Given the description of an element on the screen output the (x, y) to click on. 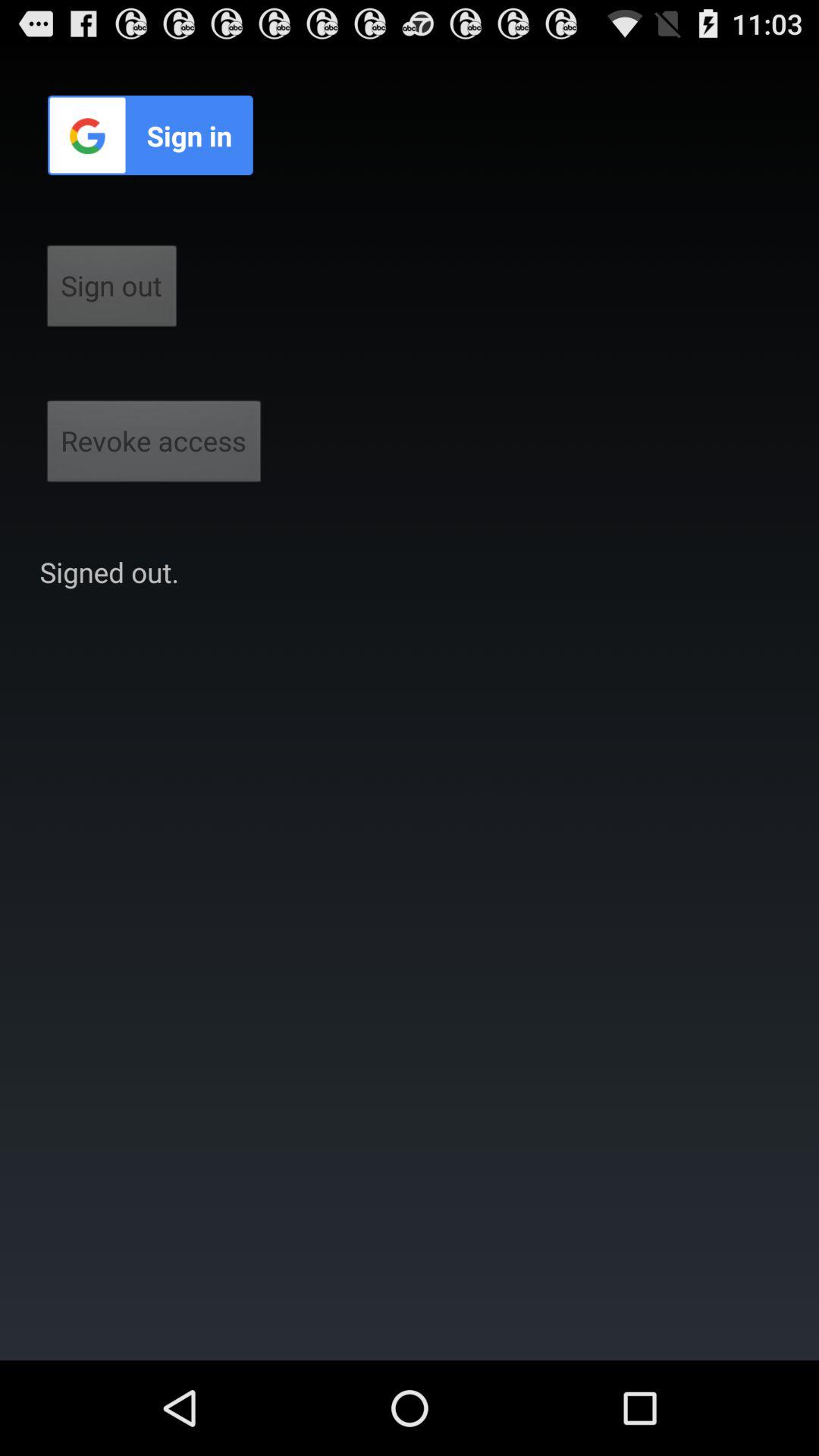
jump until revoke access button (154, 445)
